Given the description of an element on the screen output the (x, y) to click on. 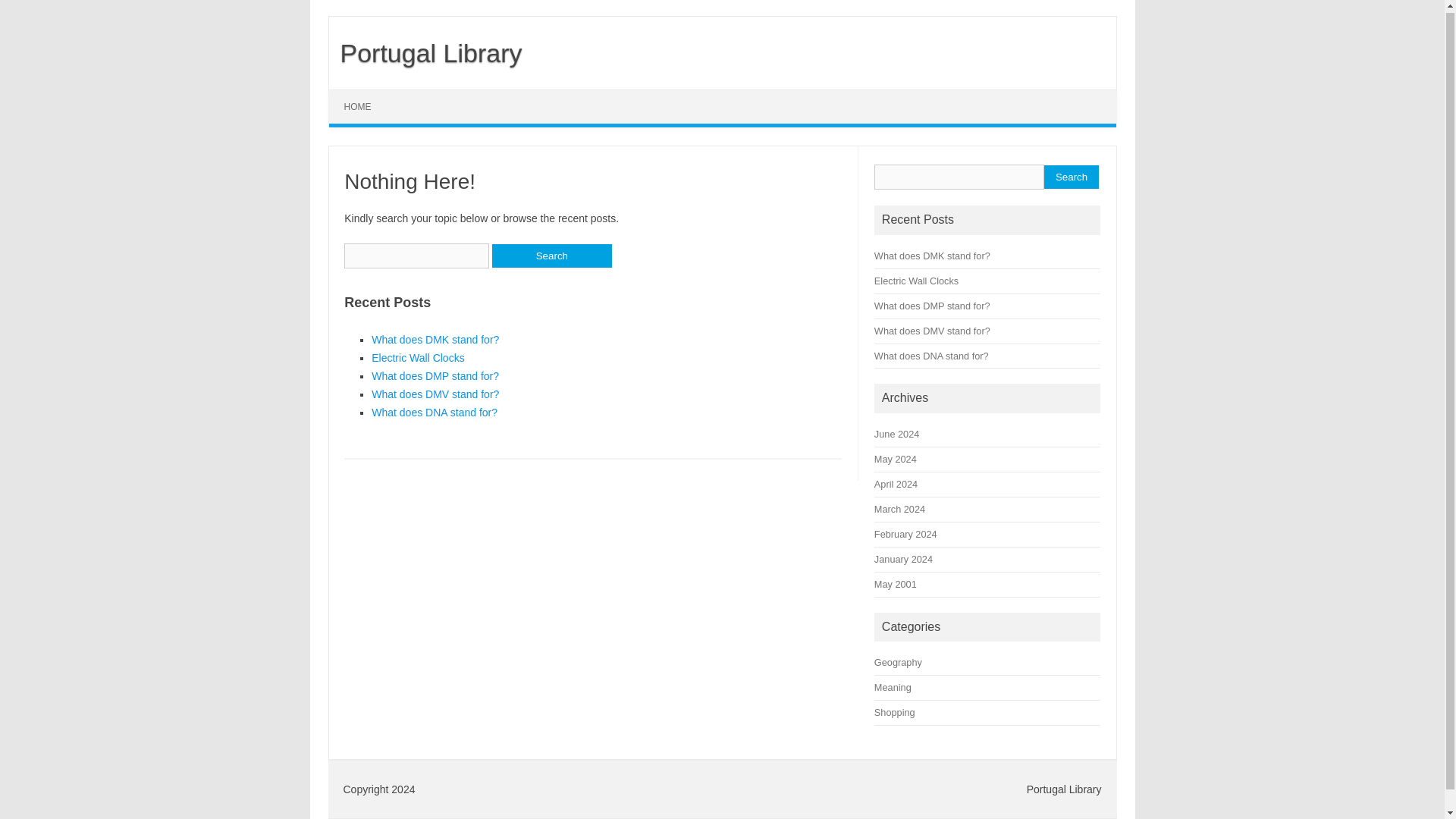
What does DNA stand for? (434, 412)
Electric Wall Clocks (916, 280)
What does DMK stand for? (932, 255)
What does DMV stand for? (435, 394)
Meaning (893, 686)
January 2024 (904, 559)
Geography (898, 662)
Search (1070, 177)
HOME (358, 106)
Skip to content (363, 94)
